Given the description of an element on the screen output the (x, y) to click on. 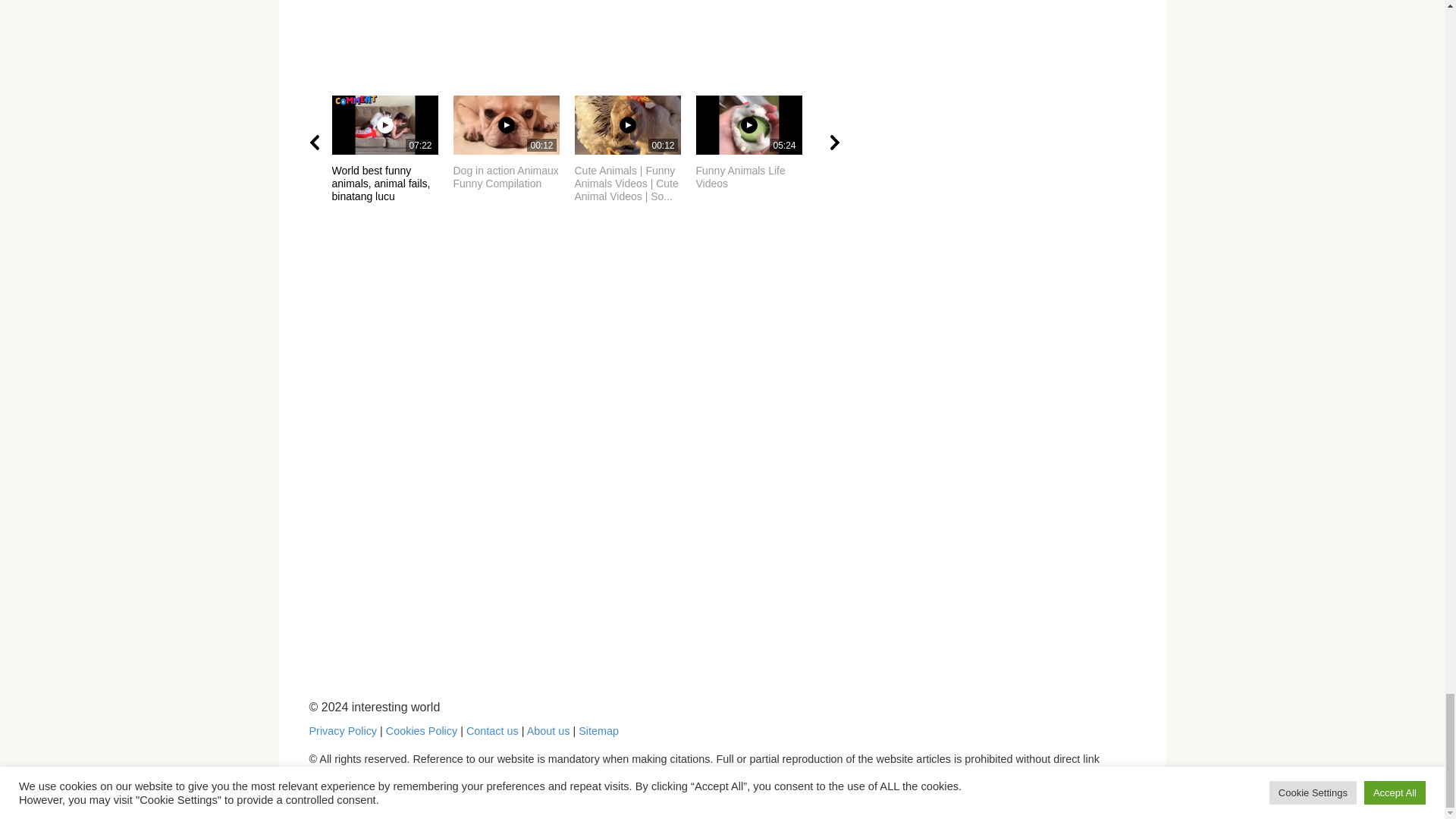
About us (755, 142)
Sitemap (548, 730)
Cookies Policy (598, 730)
Contact us (391, 142)
Privacy Policy (421, 730)
